Given the description of an element on the screen output the (x, y) to click on. 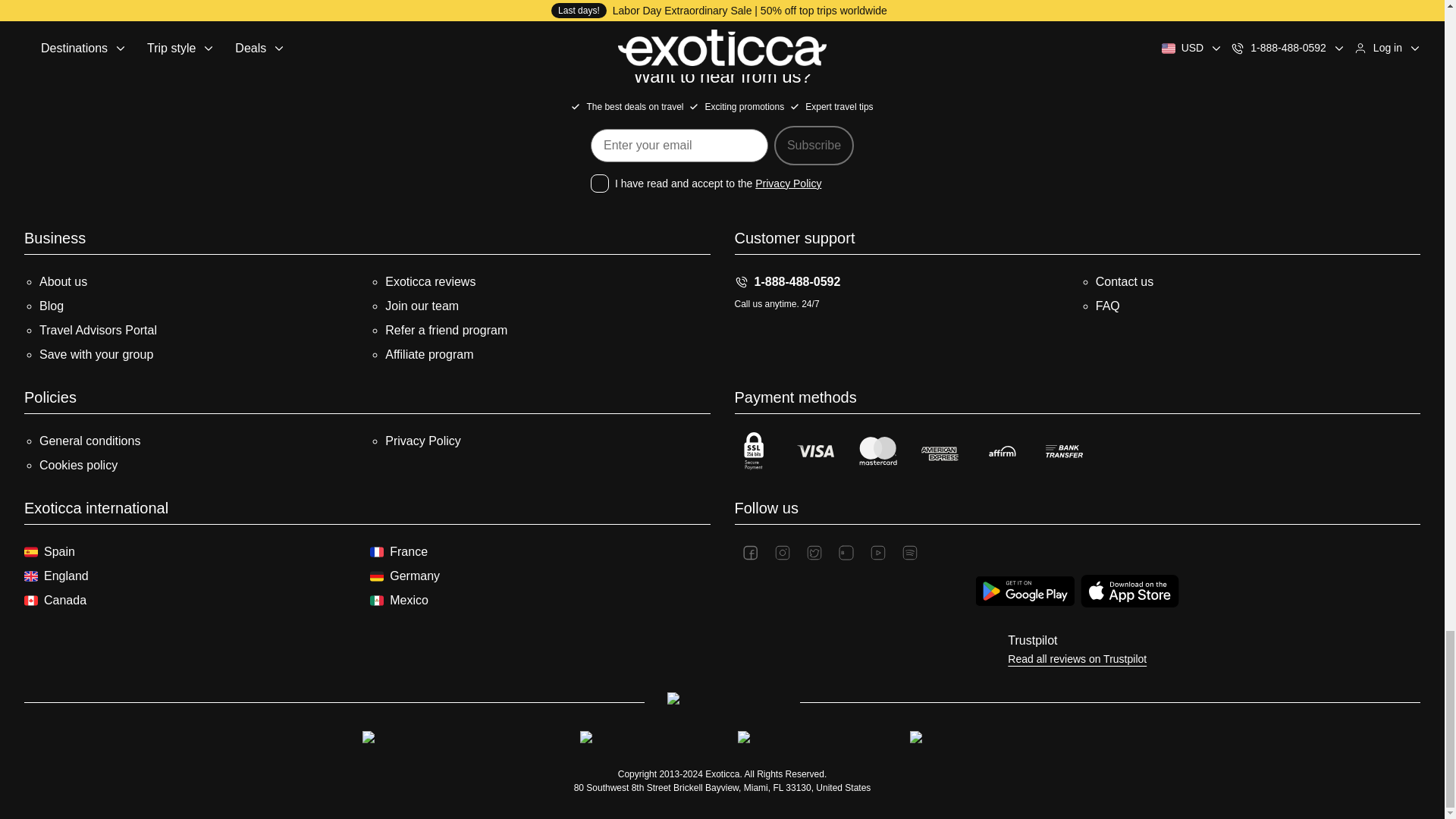
bank-transfer-icon (1064, 451)
ssl-en-white-icon (752, 451)
card-visa-black-white-icon (815, 451)
check-icon (574, 106)
card-master-black-white-icon (877, 451)
check-icon (693, 106)
check-icon (794, 106)
card-american-express-black-white-icon (939, 451)
phone-call-icon (740, 282)
affirm-black-white-icon (1001, 451)
